Given the description of an element on the screen output the (x, y) to click on. 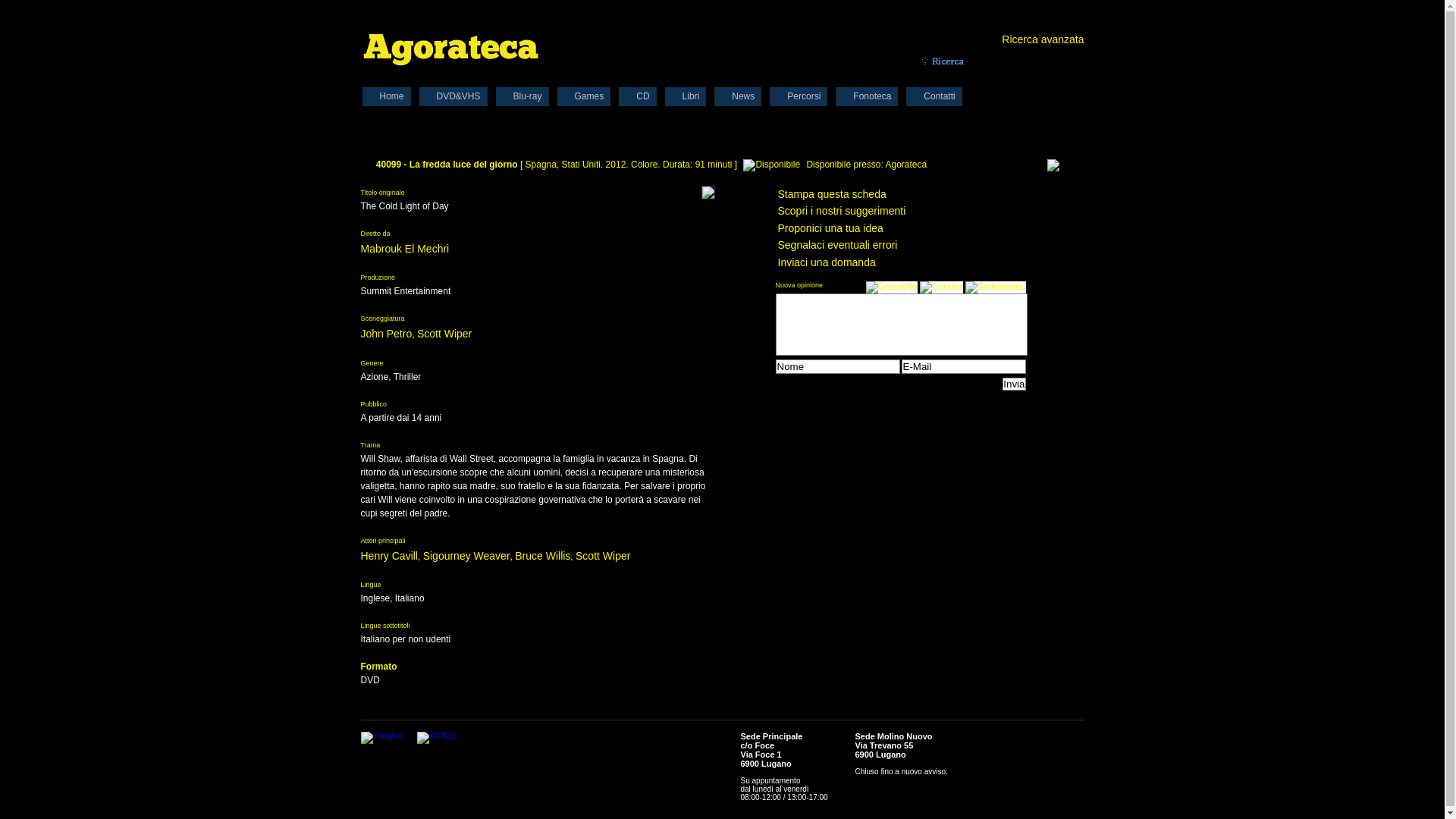
Games Element type: text (584, 96)
Disponibile Element type: hover (771, 165)
Bruce Willis Element type: text (542, 555)
Blu-ray Element type: text (522, 96)
Contatti Element type: text (933, 96)
Agorateca Element type: hover (450, 47)
Scopri i nostri suggerimenti Element type: text (842, 210)
CD Element type: text (637, 96)
Percorsi Element type: text (798, 96)
Invia Element type: text (1013, 383)
Libri Element type: text (685, 96)
Sottolineato Element type: hover (995, 287)
John Petro Element type: text (386, 333)
DVD&VHS Element type: text (453, 96)
News Element type: text (737, 96)
Inviaci una domanda Element type: text (826, 262)
Henry Cavill Element type: text (388, 555)
Scott Wiper Element type: text (444, 333)
Stampa questa scheda Element type: text (832, 194)
Nome Element type: text (837, 366)
Grassetto Element type: hover (891, 287)
Segnalaci eventuali errori Element type: text (837, 244)
Proponici una tua idea Element type: text (830, 228)
Sigourney Weaver Element type: text (466, 555)
E-Mail Element type: text (962, 366)
Corsivo Element type: hover (941, 287)
Fonoteca Element type: text (866, 96)
Mabrouk El Mechri Element type: text (404, 248)
Home Element type: text (385, 96)
Scott Wiper Element type: text (602, 555)
Ricerca avanzata Element type: text (1042, 39)
